Given the description of an element on the screen output the (x, y) to click on. 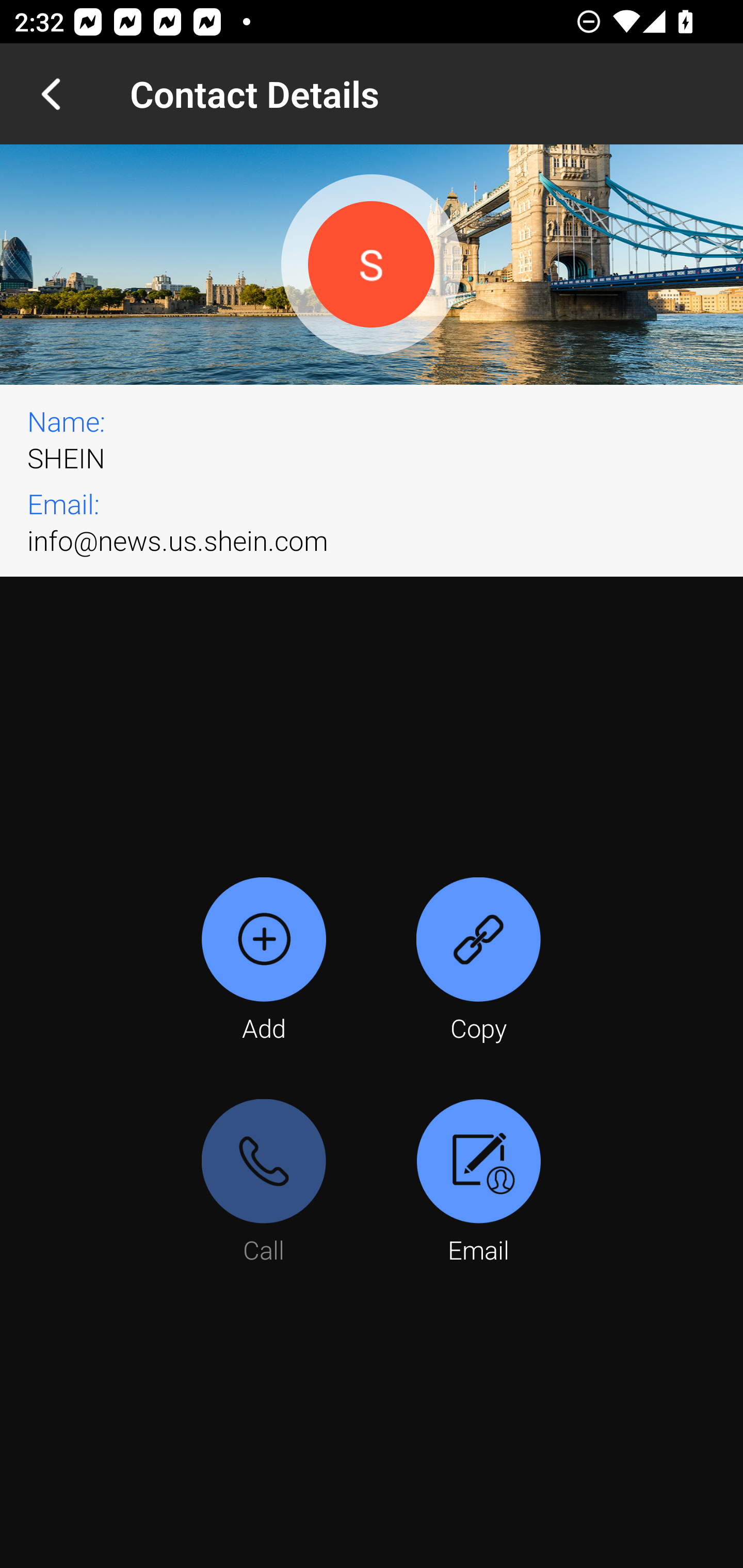
Navigate up (50, 93)
Add (264, 961)
Copy (478, 961)
Call (264, 1182)
Email (478, 1182)
